Given the description of an element on the screen output the (x, y) to click on. 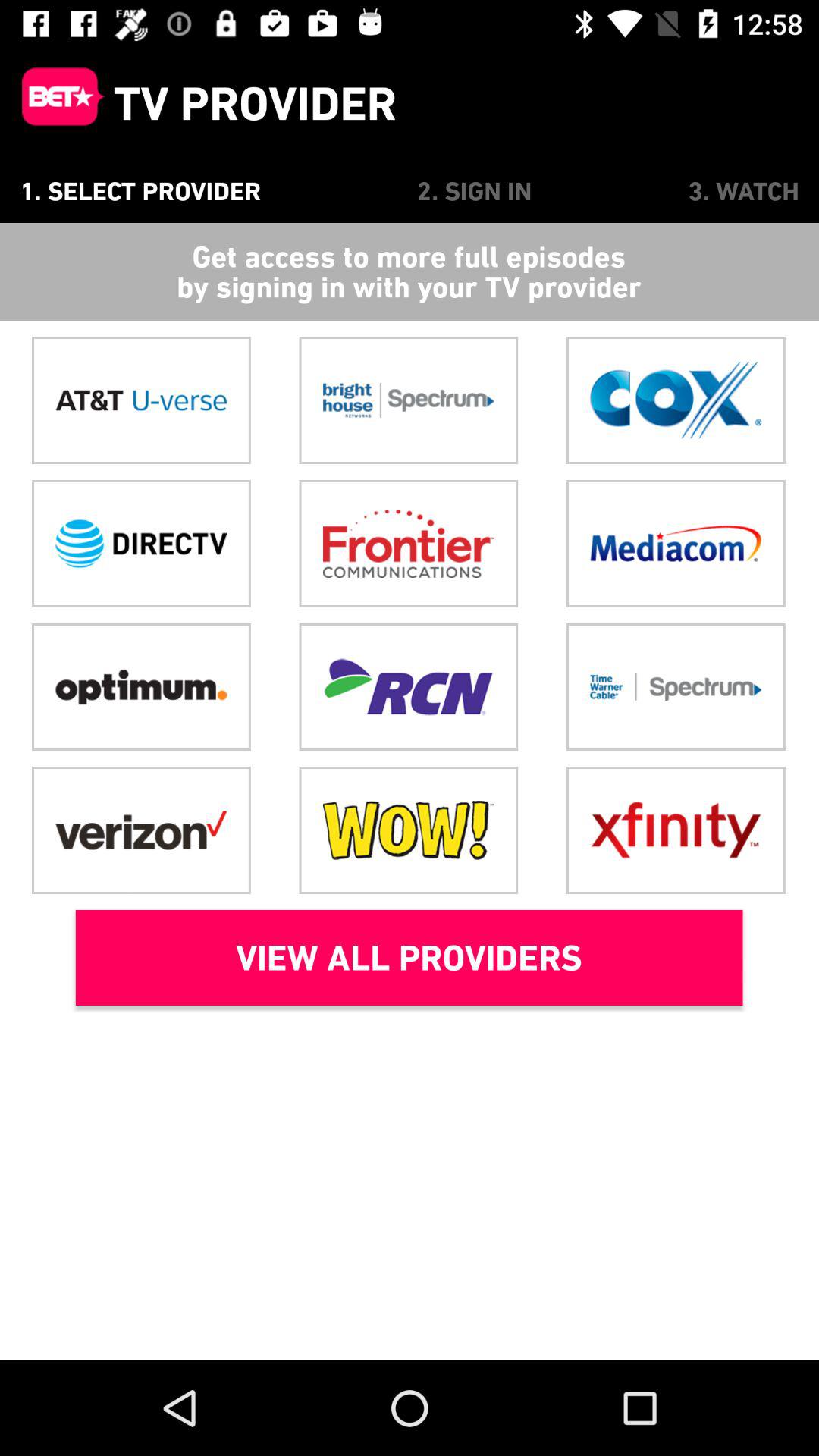
press view all providers item (408, 957)
